Given the description of an element on the screen output the (x, y) to click on. 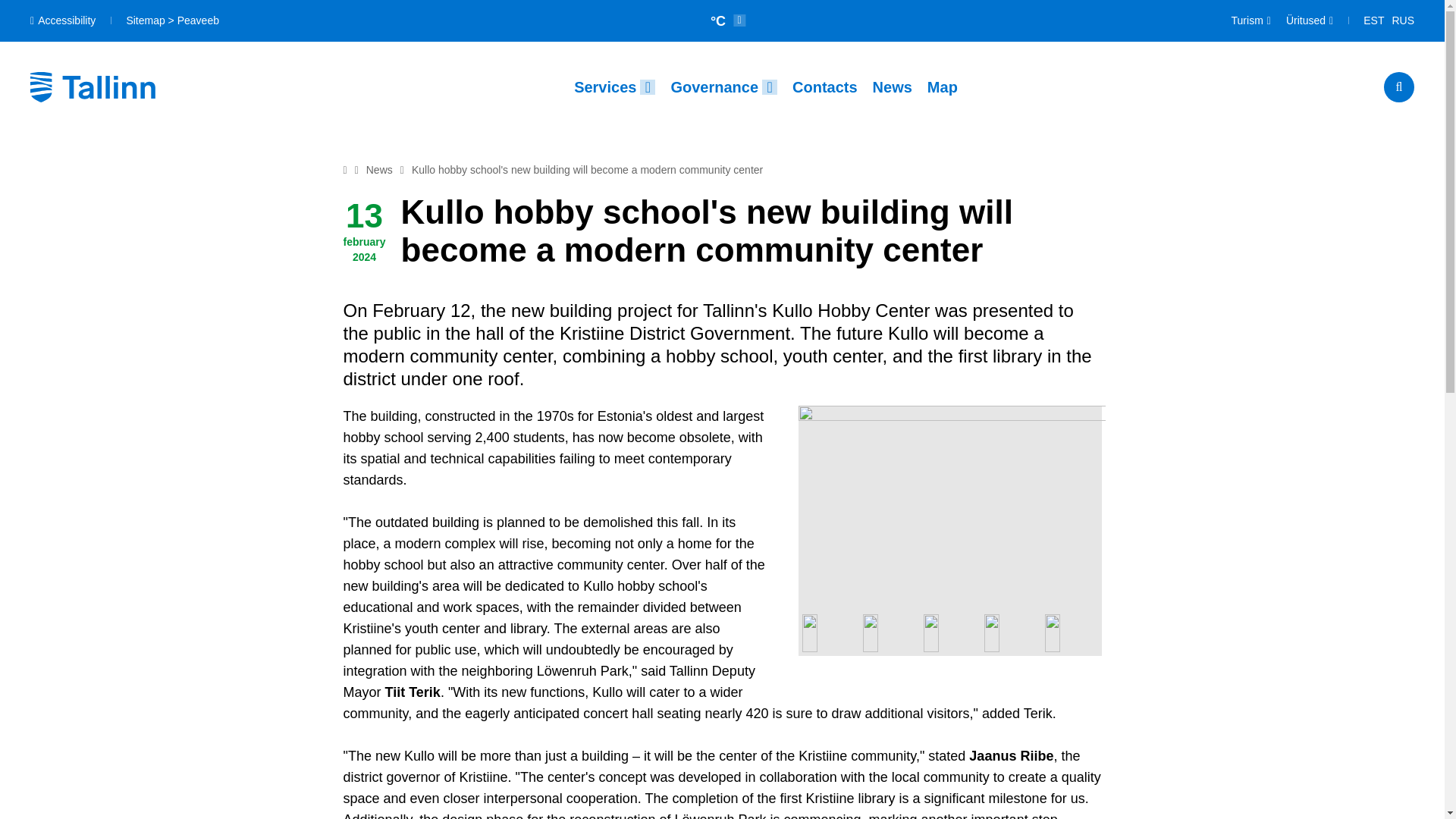
Services (614, 87)
Turism (1251, 20)
EST (1373, 20)
RUS (1402, 20)
Accessibility (63, 20)
